Given the description of an element on the screen output the (x, y) to click on. 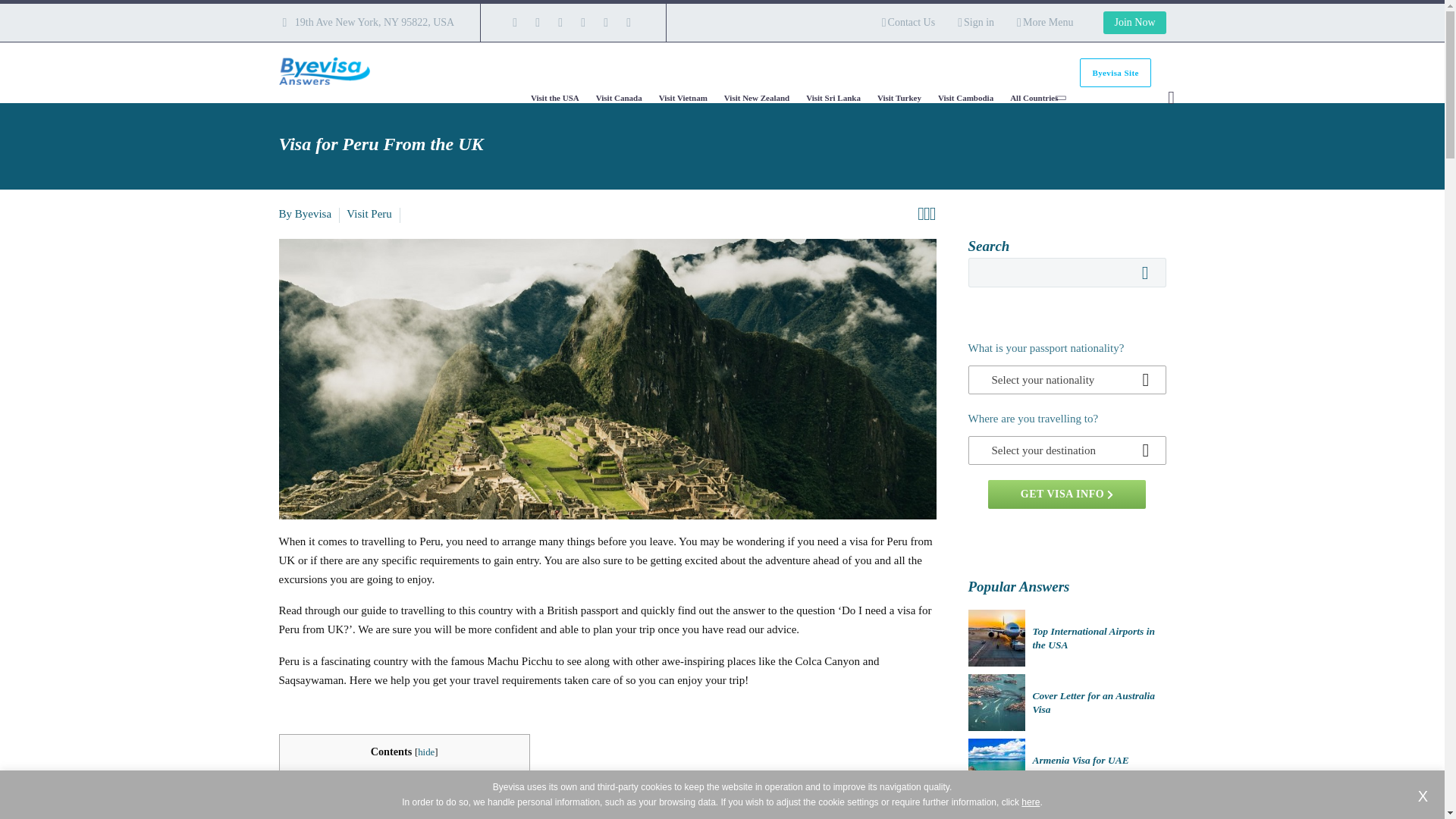
More Menu (1044, 22)
Pinterest (605, 22)
LinkedIn (536, 22)
Visit the USA (554, 97)
All Countries (1034, 97)
Visit Turkey (898, 97)
Twitter (560, 22)
Instagram (583, 22)
YouTube (628, 22)
Visit Sri Lanka (832, 97)
